Given the description of an element on the screen output the (x, y) to click on. 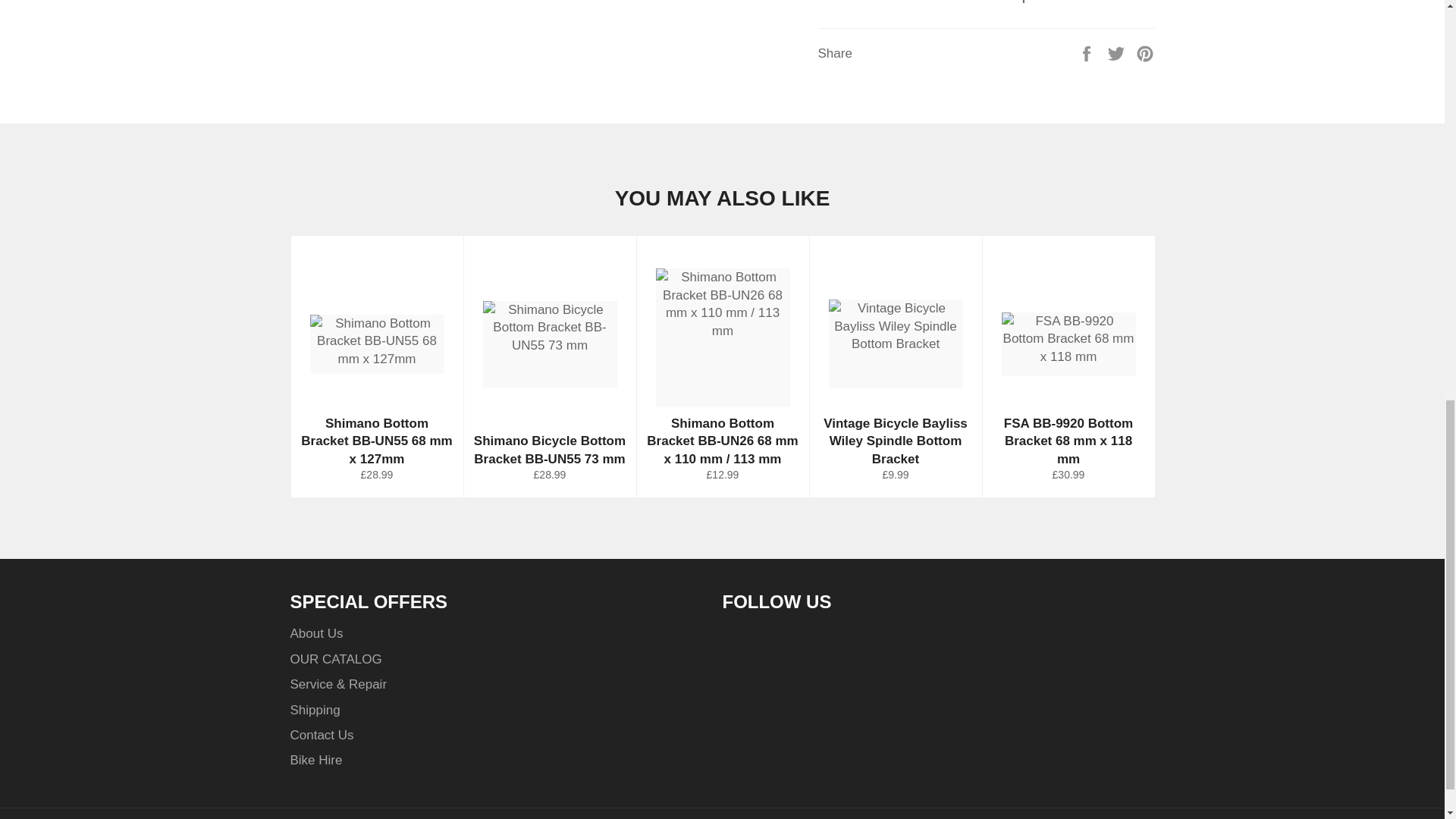
Tweet on Twitter (1117, 52)
Pin on Pinterest (1144, 52)
Share on Facebook (1088, 52)
